Given the description of an element on the screen output the (x, y) to click on. 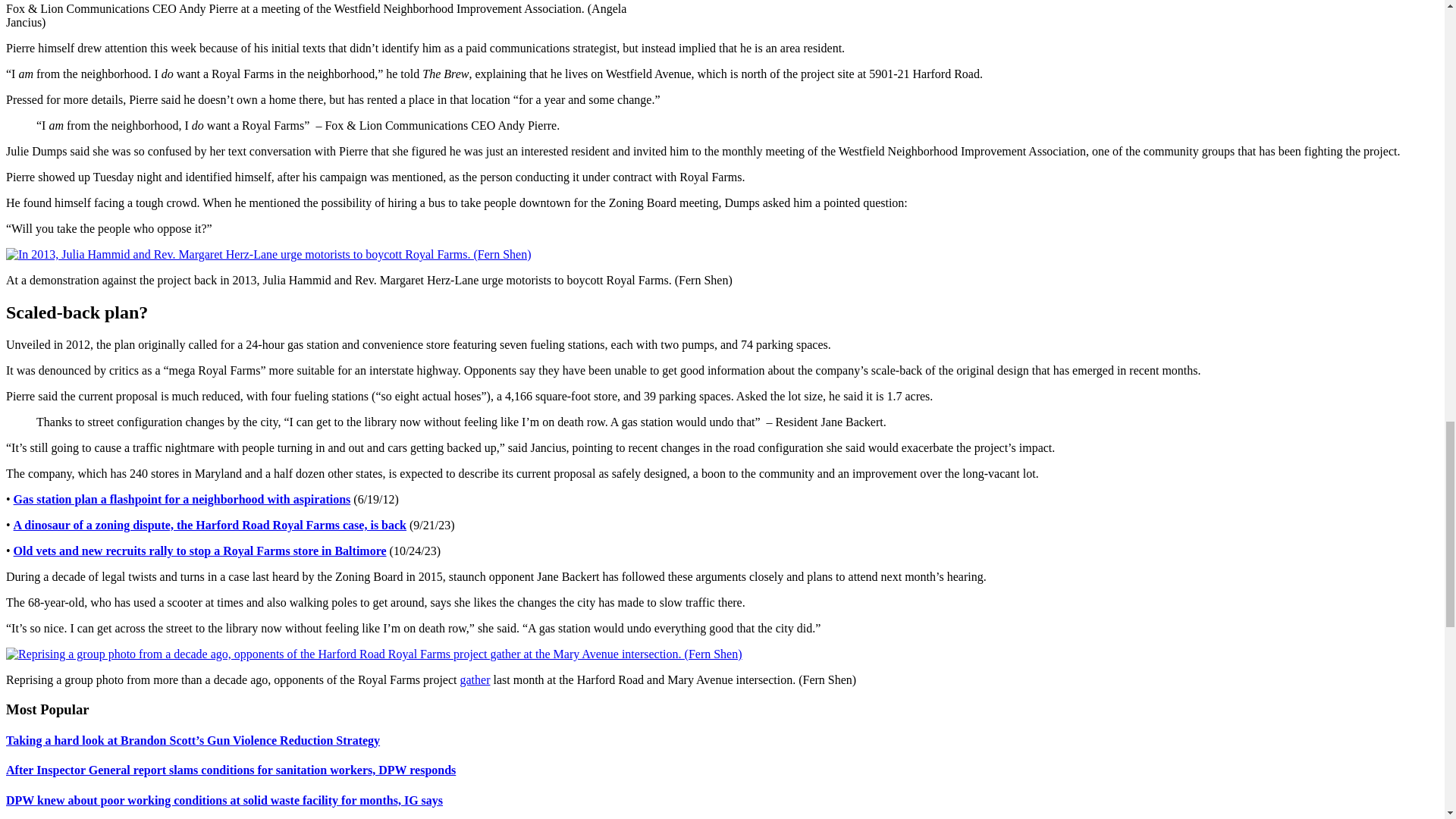
gather (475, 679)
